Given the description of an element on the screen output the (x, y) to click on. 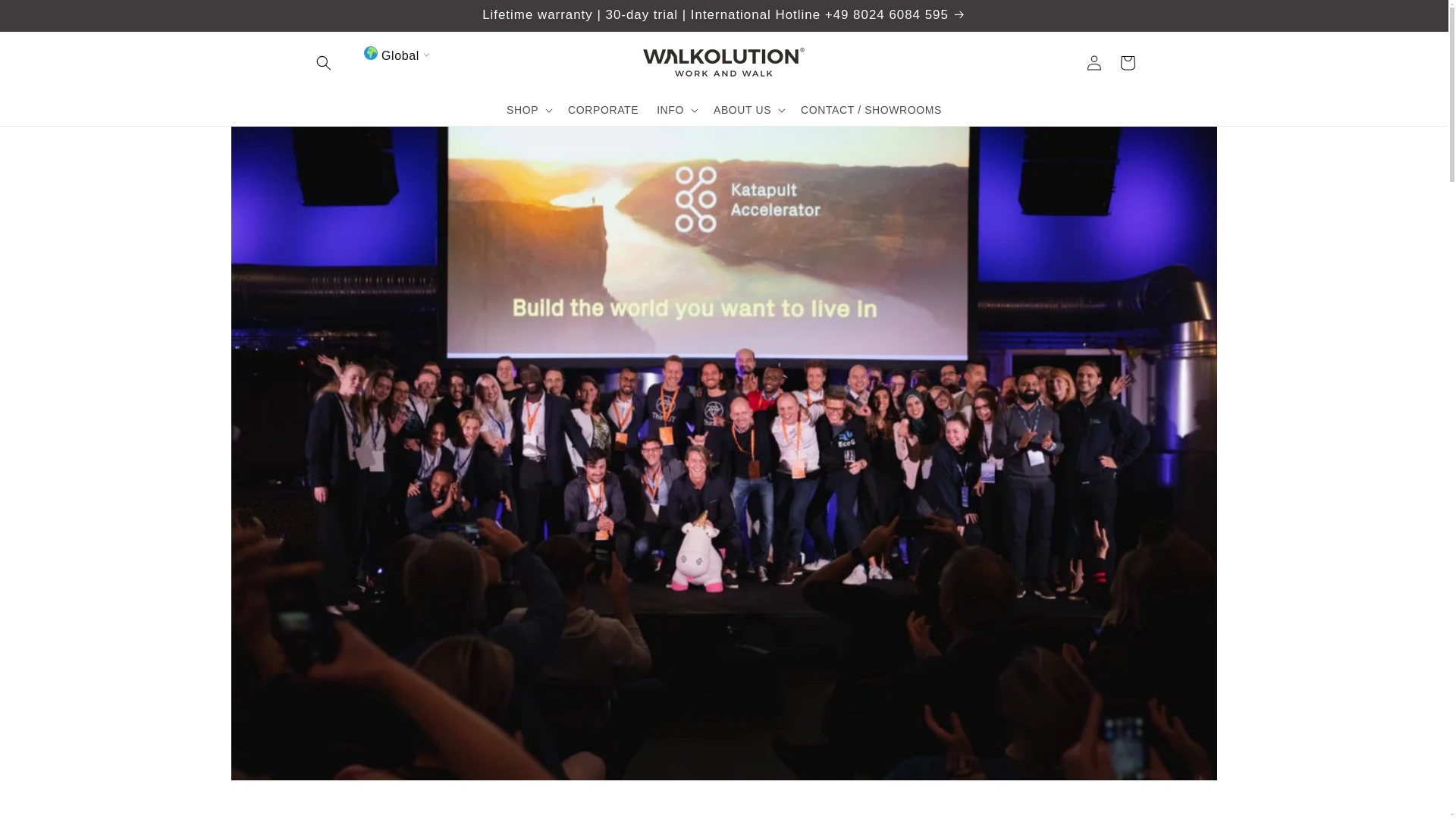
Skip to content (45, 17)
